Given the description of an element on the screen output the (x, y) to click on. 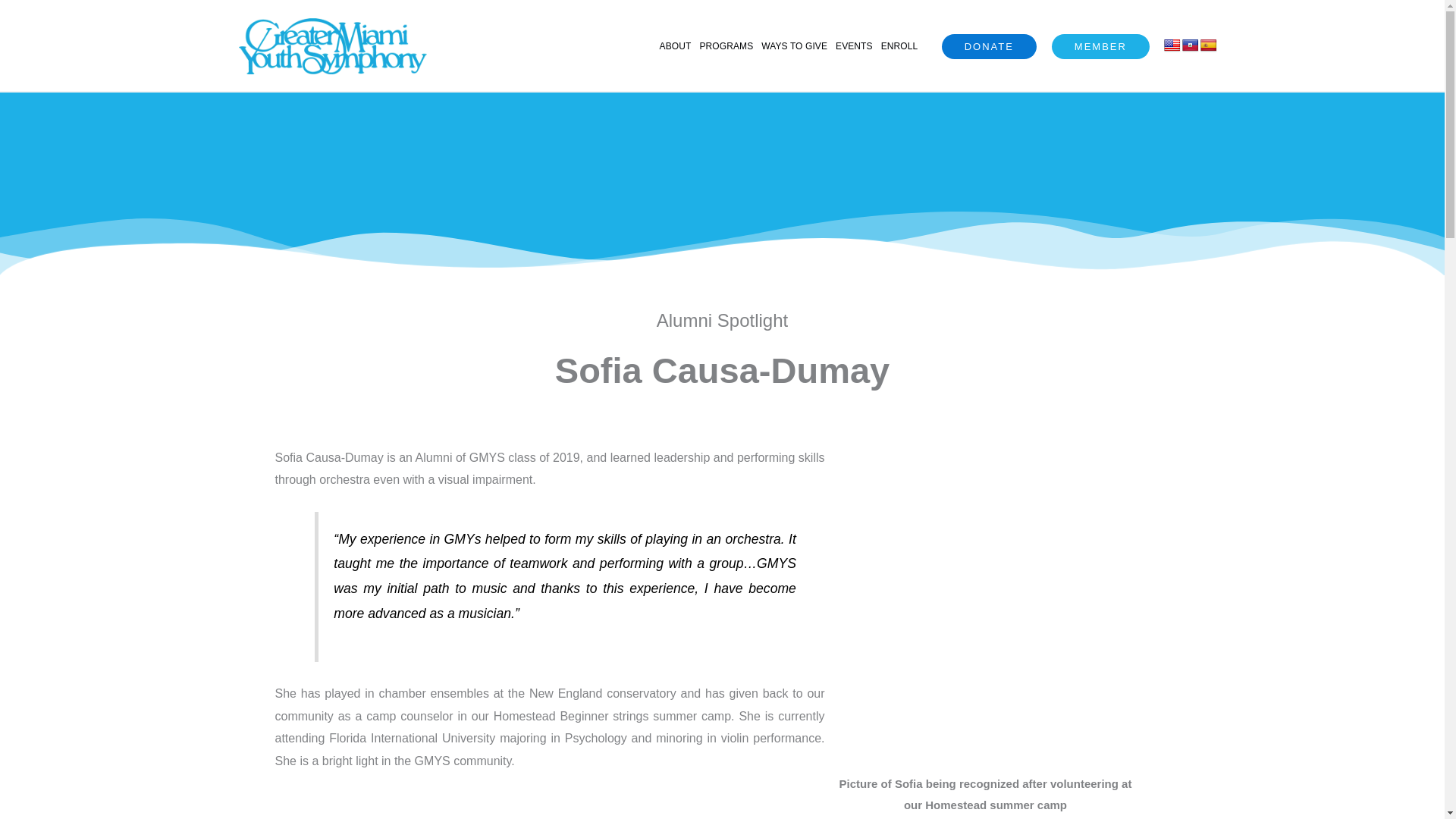
WAYS TO GIVE (793, 45)
Haitian (1190, 45)
English (1171, 45)
PROGRAMS (725, 45)
Spanish (1208, 45)
